Given the description of an element on the screen output the (x, y) to click on. 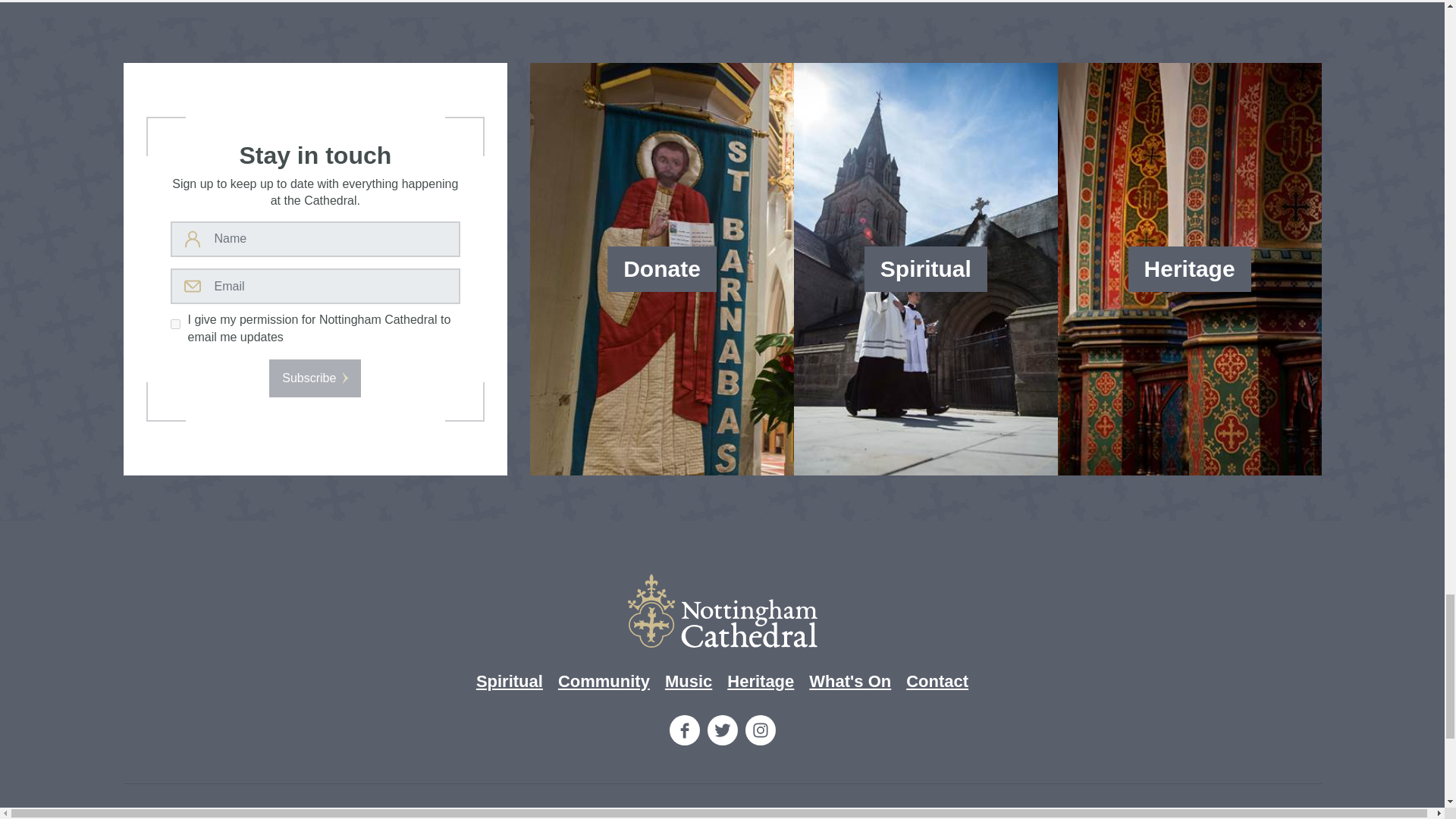
on (174, 324)
